Given the description of an element on the screen output the (x, y) to click on. 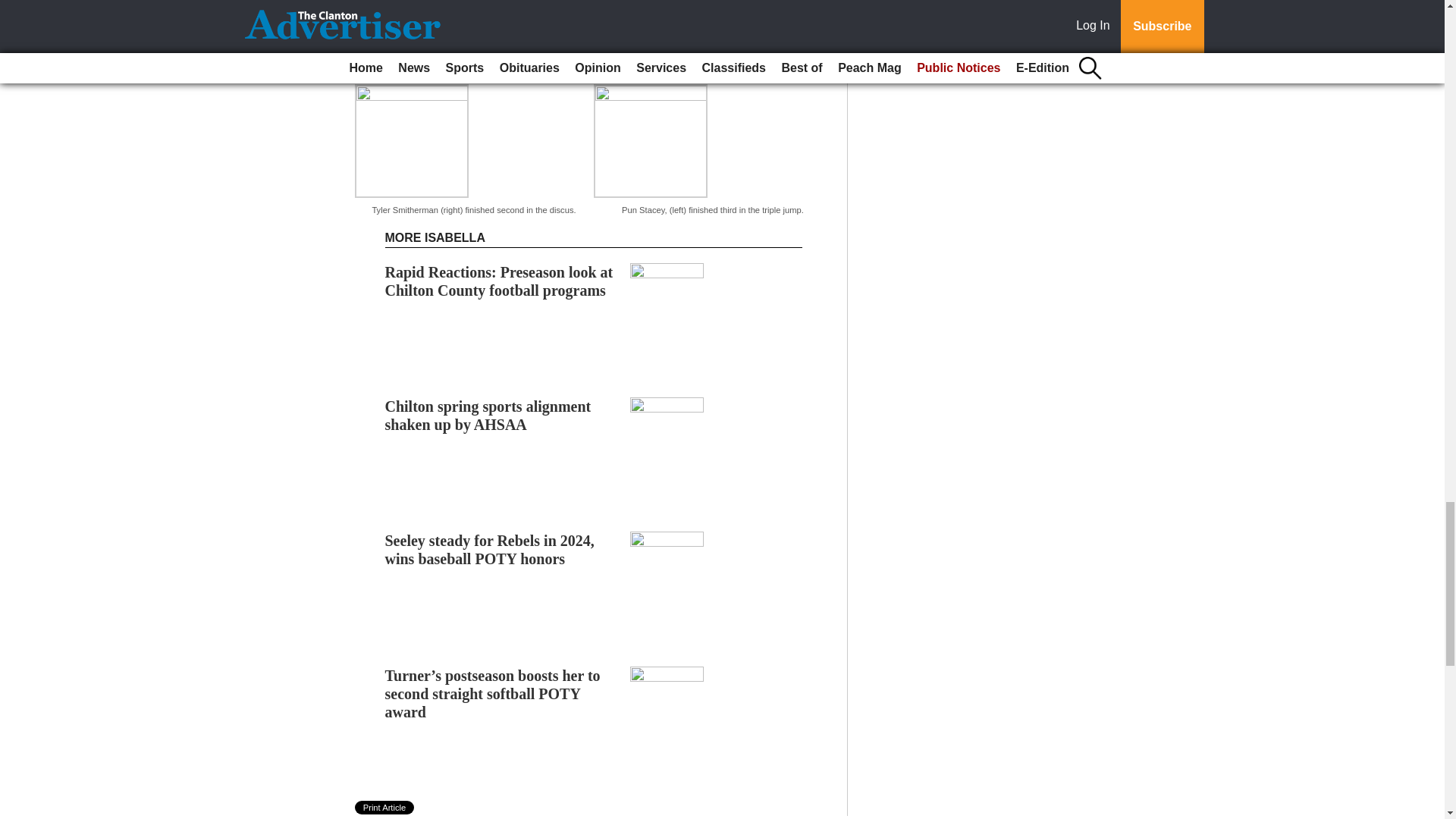
Chilton spring sports alignment shaken up by AHSAA (488, 415)
Seeley steady for Rebels in 2024, wins baseball POTY honors (489, 549)
Seeley steady for Rebels in 2024, wins baseball POTY honors (489, 549)
Chilton spring sports alignment shaken up by AHSAA (488, 415)
